Given the description of an element on the screen output the (x, y) to click on. 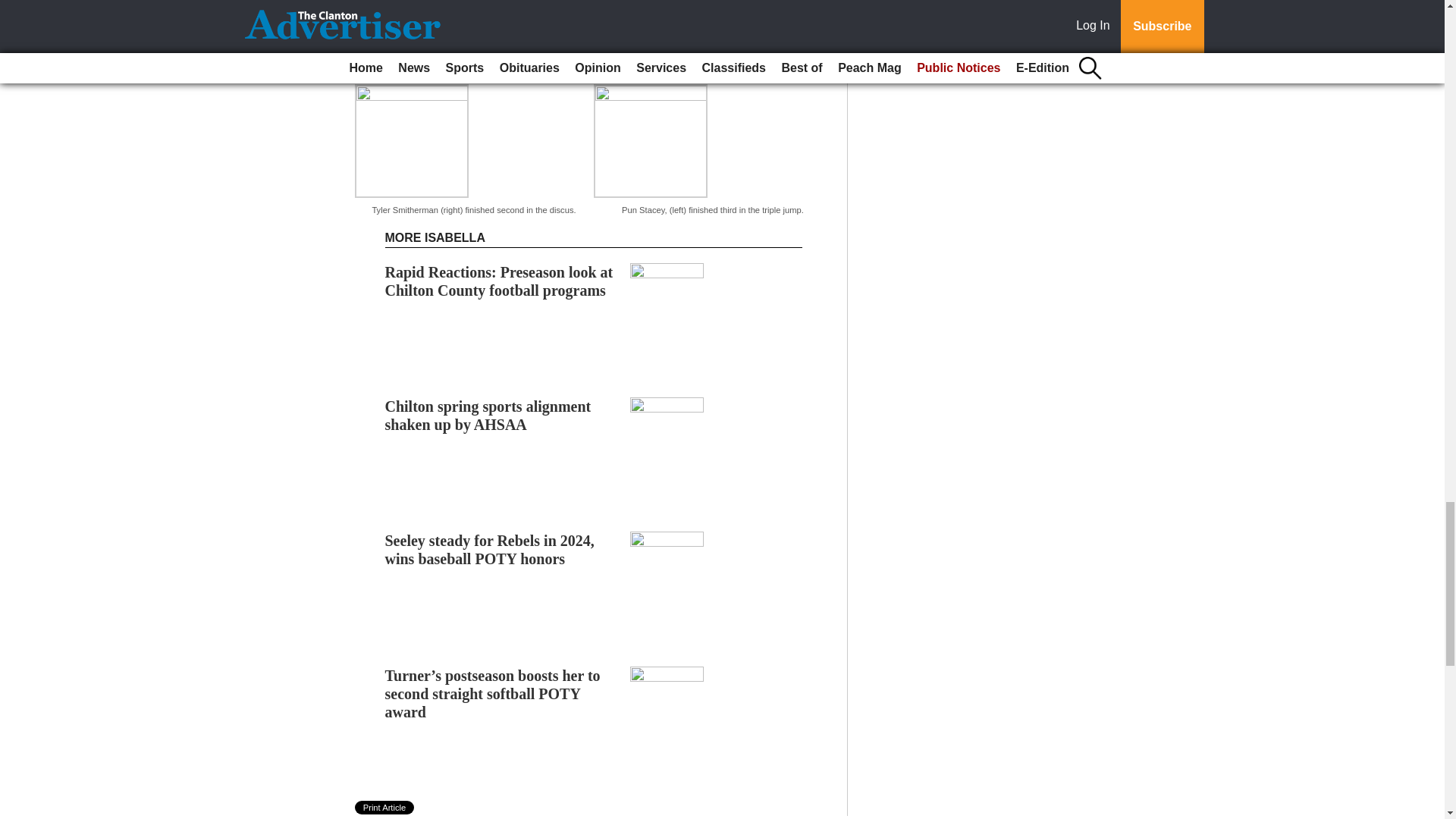
Chilton spring sports alignment shaken up by AHSAA (488, 415)
Seeley steady for Rebels in 2024, wins baseball POTY honors (489, 549)
Seeley steady for Rebels in 2024, wins baseball POTY honors (489, 549)
Chilton spring sports alignment shaken up by AHSAA (488, 415)
